Given the description of an element on the screen output the (x, y) to click on. 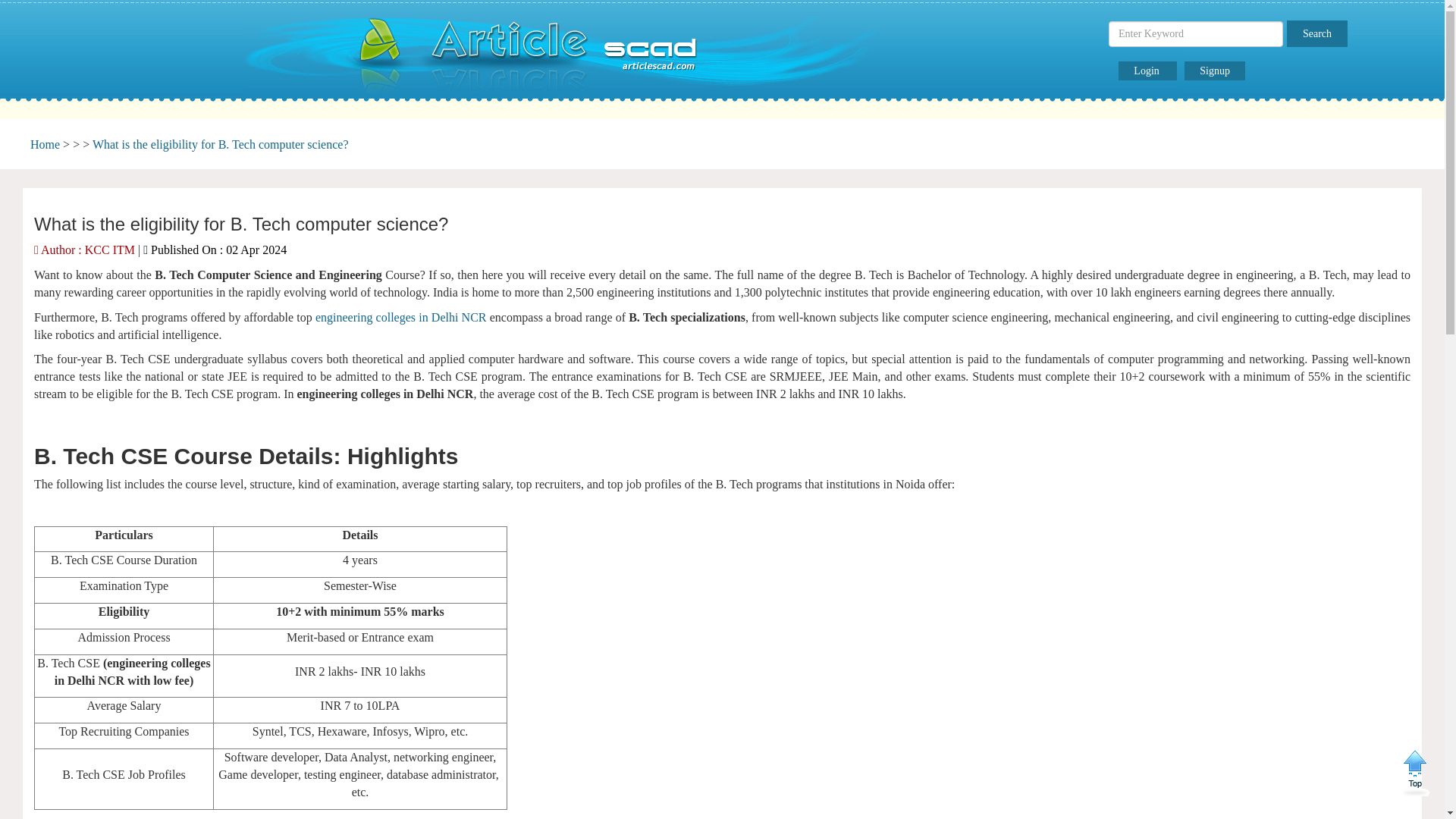
engineering colleges in Delhi NCR (400, 317)
Search (1317, 33)
Login (1147, 70)
Signup (1214, 70)
Search (1317, 33)
Home (44, 144)
What is the eligibility for B. Tech computer science? (221, 144)
